Given the description of an element on the screen output the (x, y) to click on. 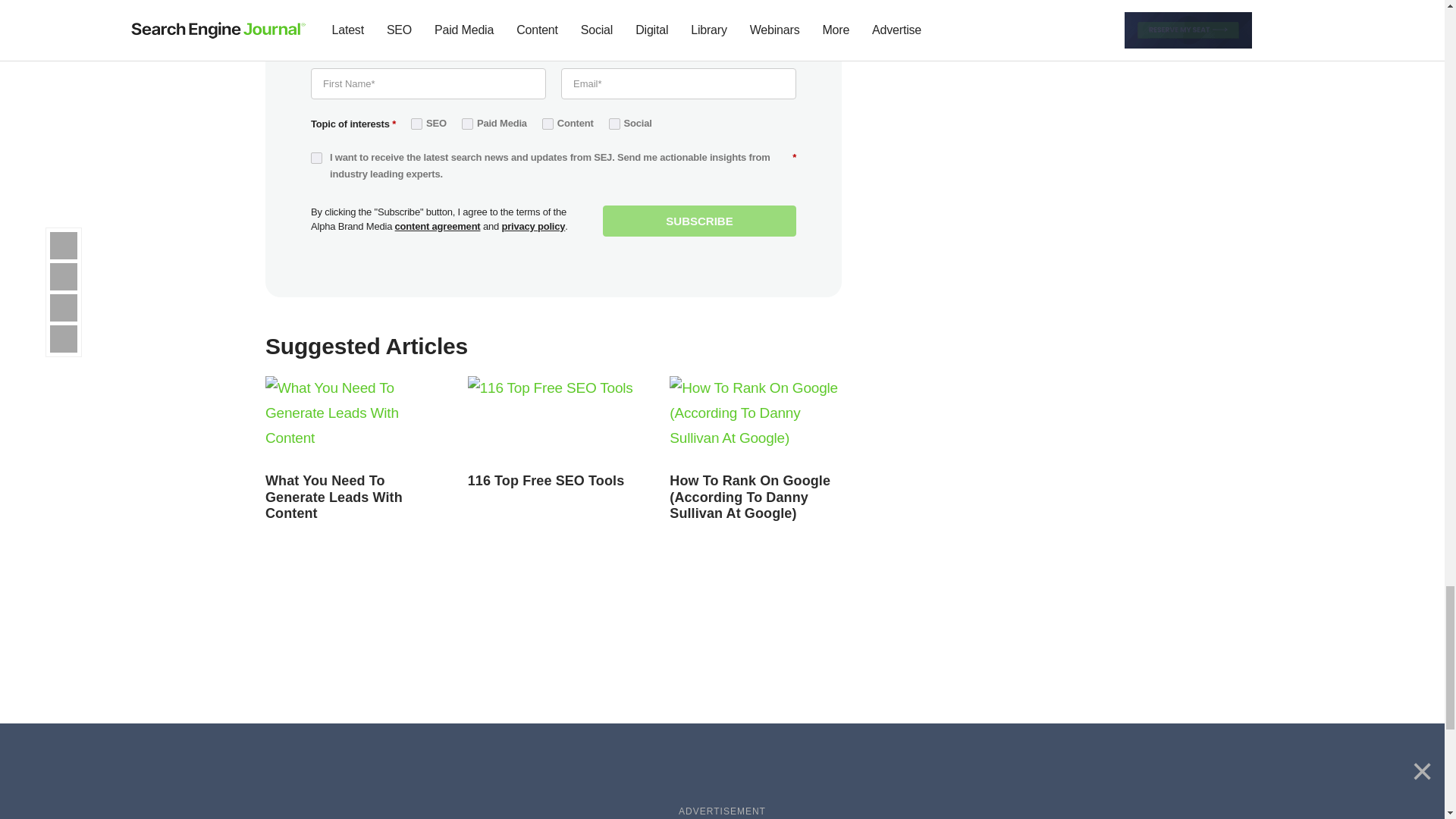
Read the Article (755, 420)
Read the Article (545, 480)
Read the Article (553, 420)
Read the Article (351, 420)
Read the Article (333, 496)
